Given the description of an element on the screen output the (x, y) to click on. 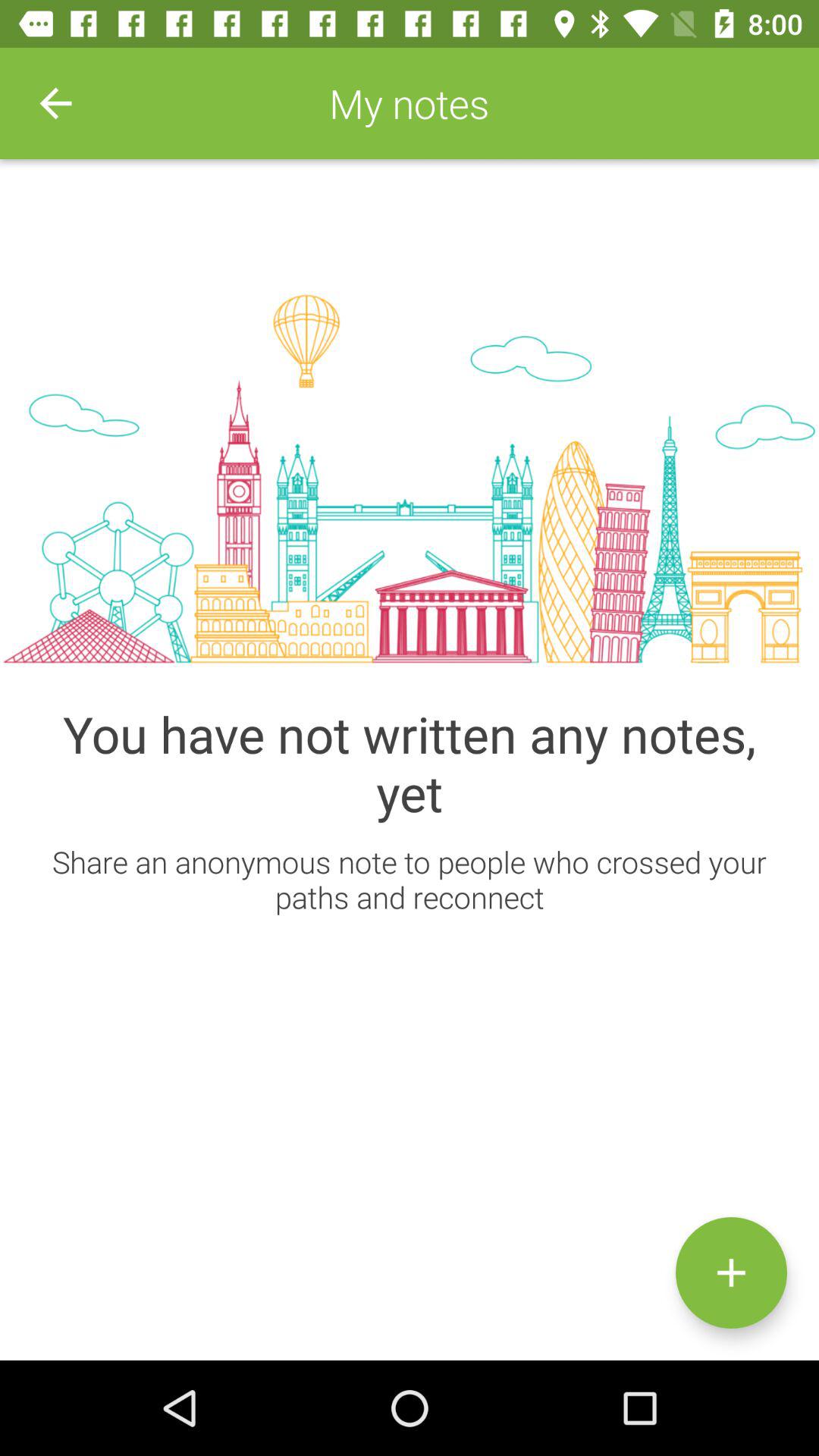
add new note (731, 1272)
